Given the description of an element on the screen output the (x, y) to click on. 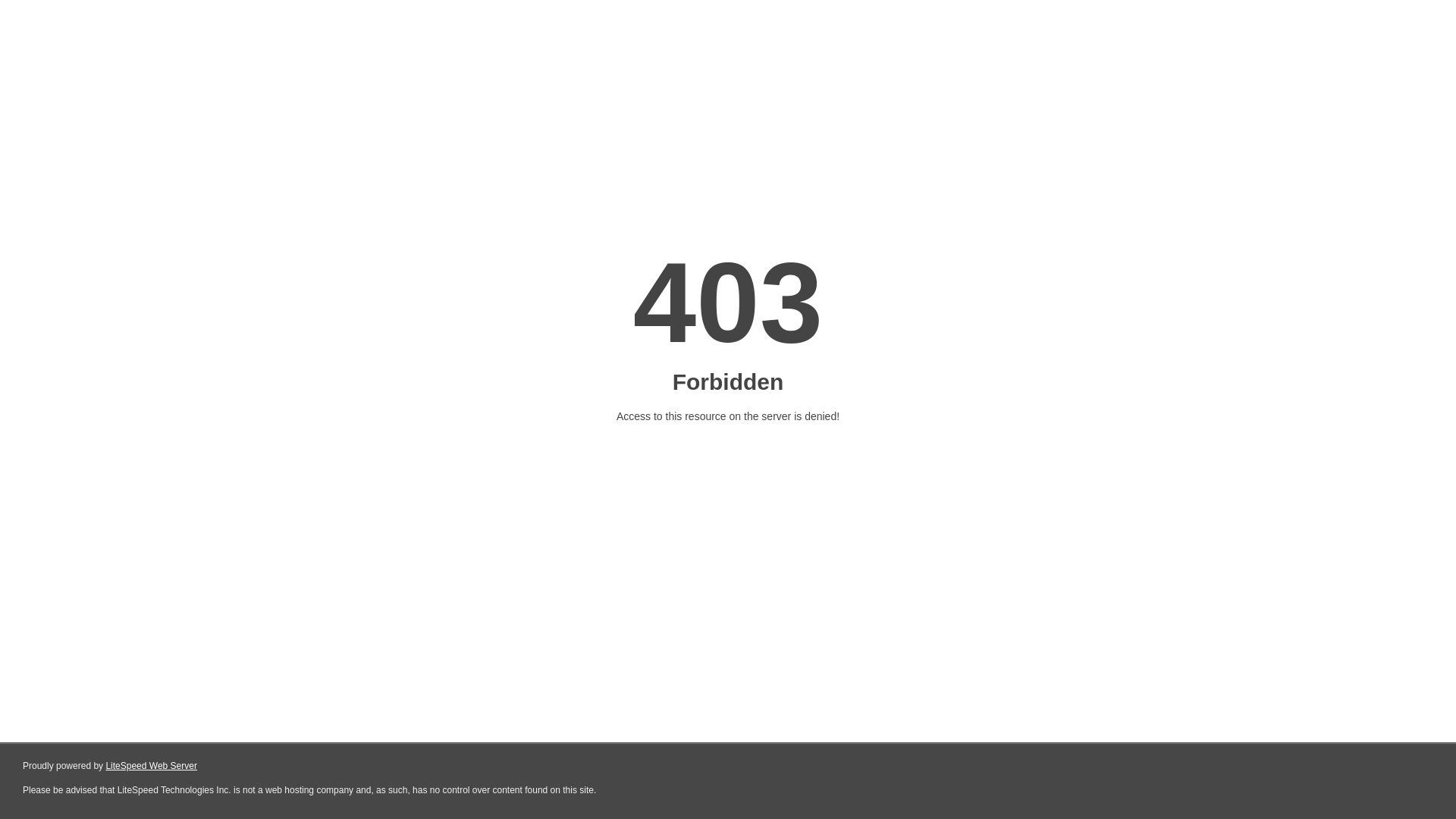
LiteSpeed Web Server Element type: text (151, 765)
